Given the description of an element on the screen output the (x, y) to click on. 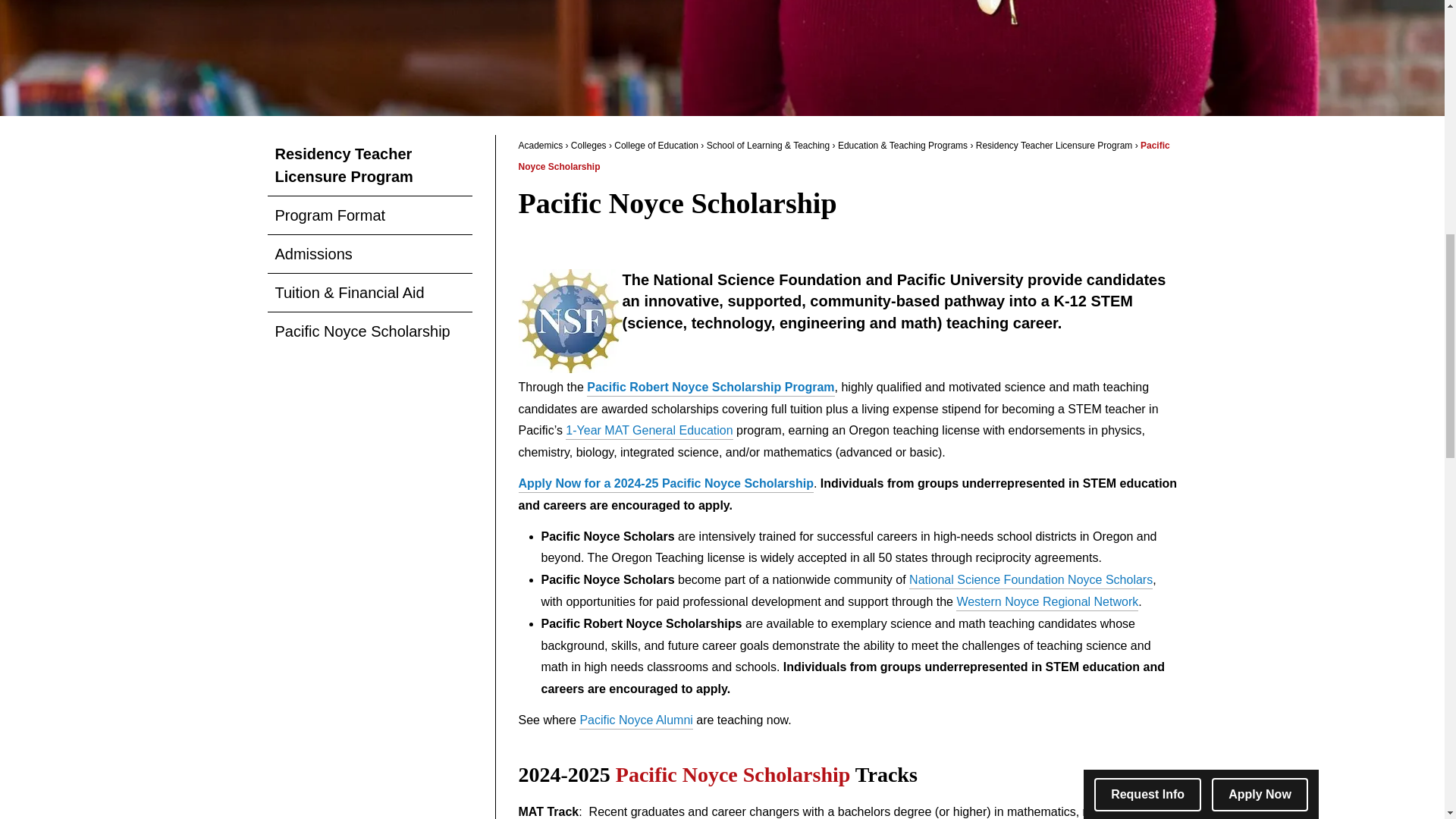
Admissions (368, 253)
Academics (540, 145)
Program Format (368, 214)
Residency Teacher Licensure Program (368, 165)
Pacific Noyce Scholarship (368, 331)
